Given the description of an element on the screen output the (x, y) to click on. 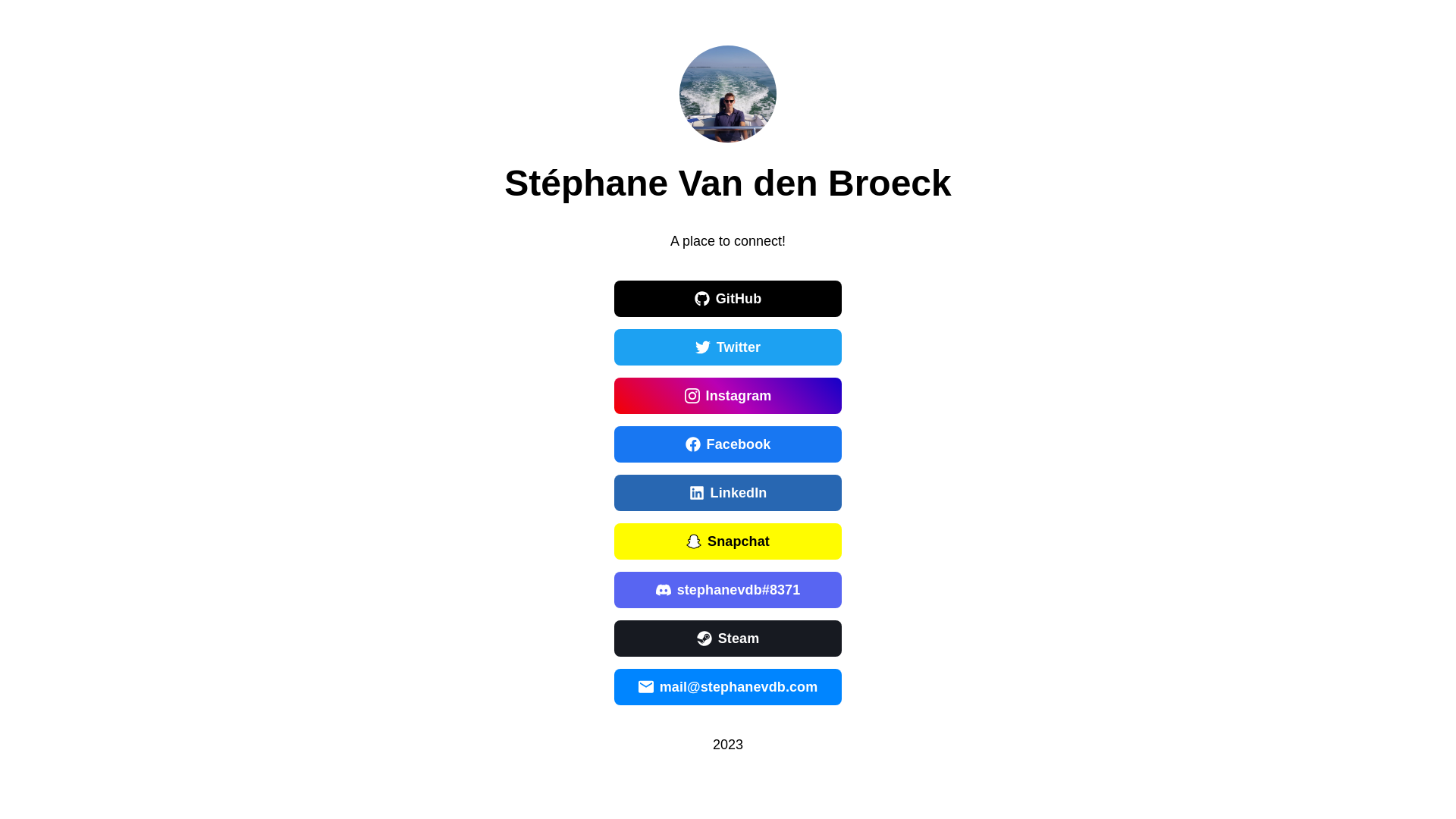
stephanevdb#8371 Element type: text (727, 589)
Snapchat Element type: text (727, 541)
Steam Element type: text (727, 638)
LinkedIn Element type: text (727, 492)
mail@stephanevdb.com Element type: text (727, 686)
Instagram Element type: text (727, 395)
Twitter Element type: text (727, 347)
GitHub Element type: text (727, 298)
Facebook Element type: text (727, 444)
